Given the description of an element on the screen output the (x, y) to click on. 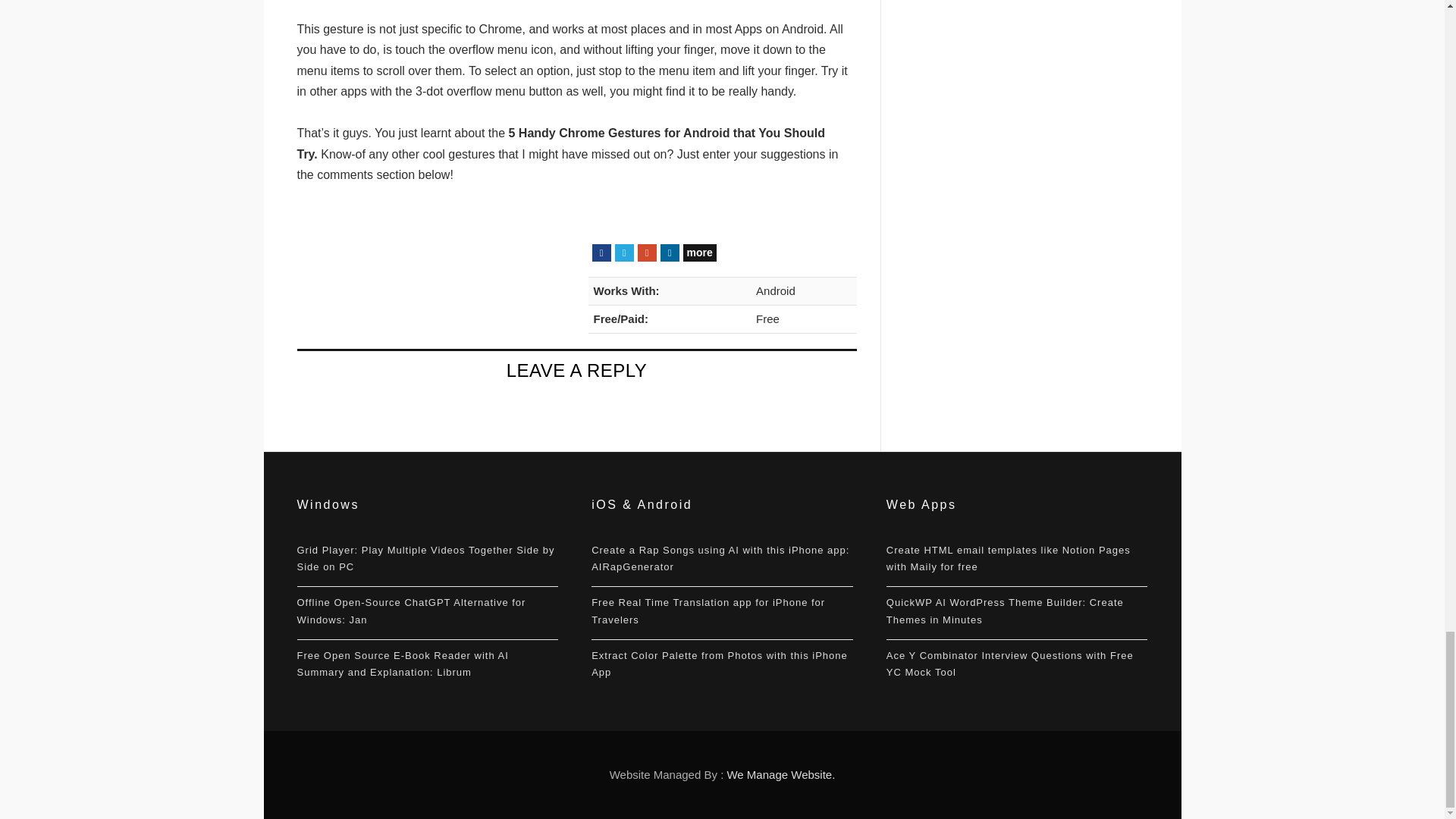
Share on Facebook (600, 252)
Share on LinkedIn (668, 252)
Tweet It (623, 252)
